Given the description of an element on the screen output the (x, y) to click on. 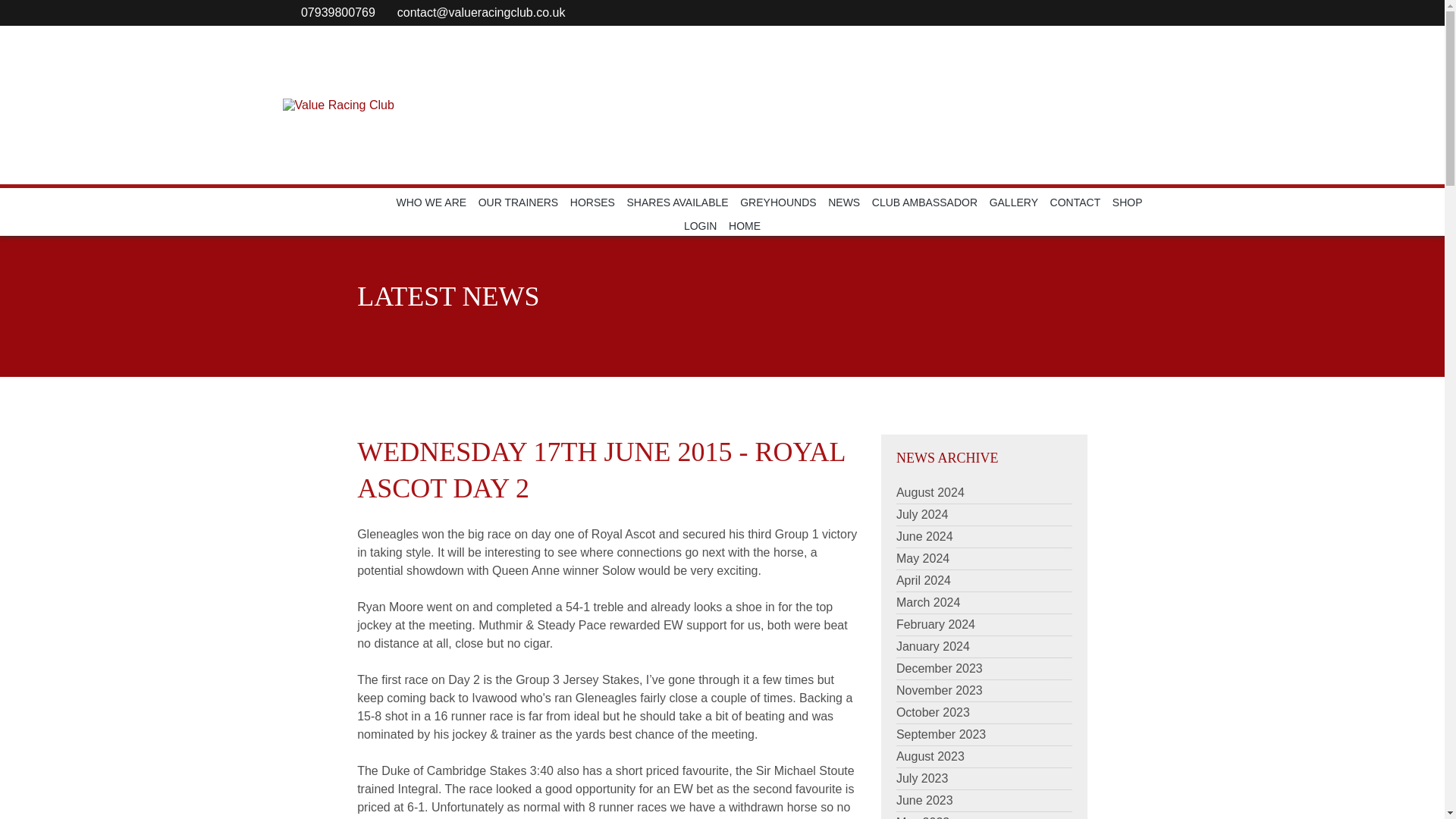
NEWS (844, 202)
June 2024 (924, 535)
HOME (744, 225)
CONTACT (1074, 202)
Shares Available (678, 202)
LOGIN (700, 225)
April 2024 (923, 580)
February 2024 (935, 624)
Horses (592, 202)
July 2024 (922, 513)
